Given the description of an element on the screen output the (x, y) to click on. 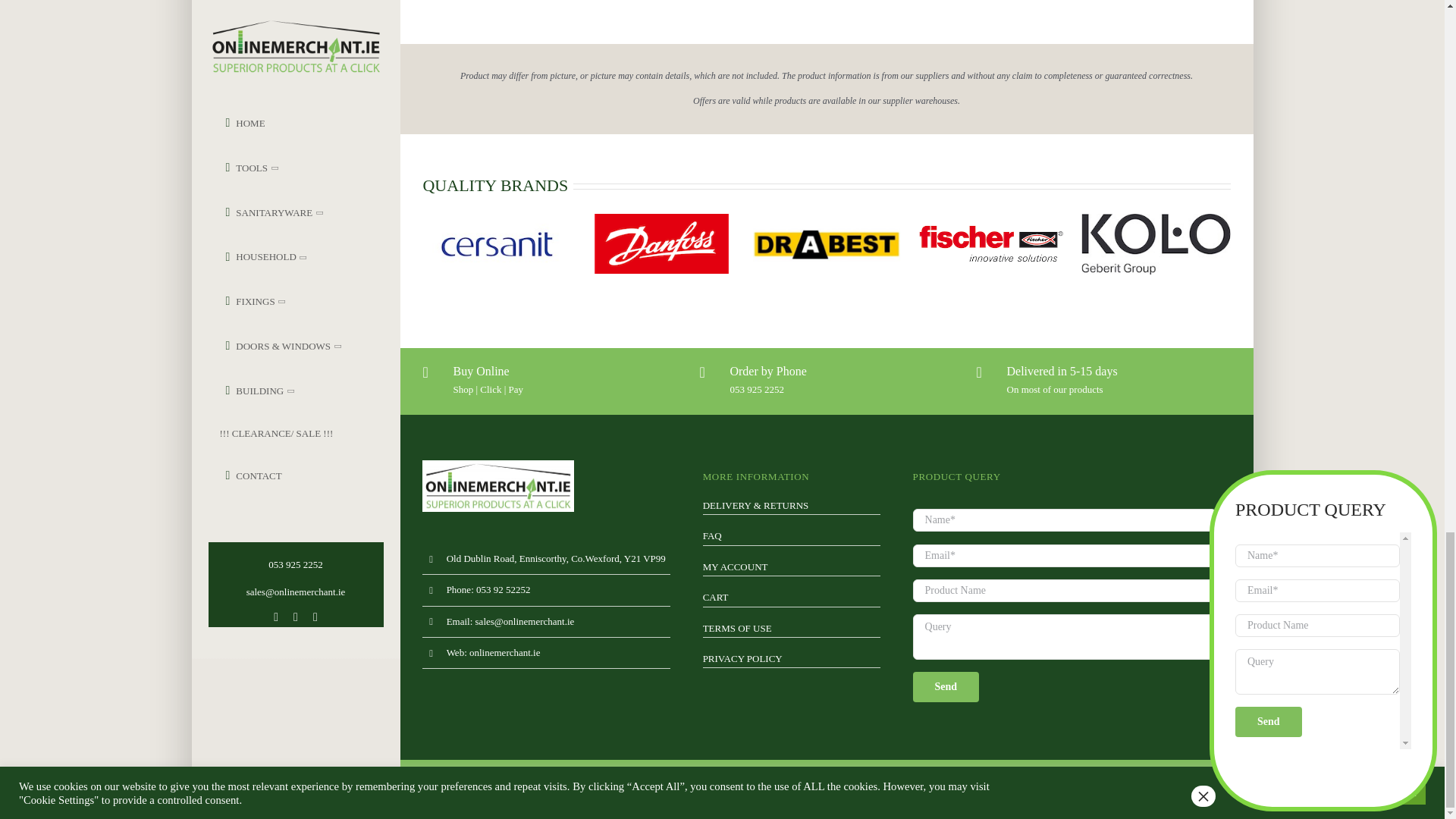
Send (945, 686)
